Given the description of an element on the screen output the (x, y) to click on. 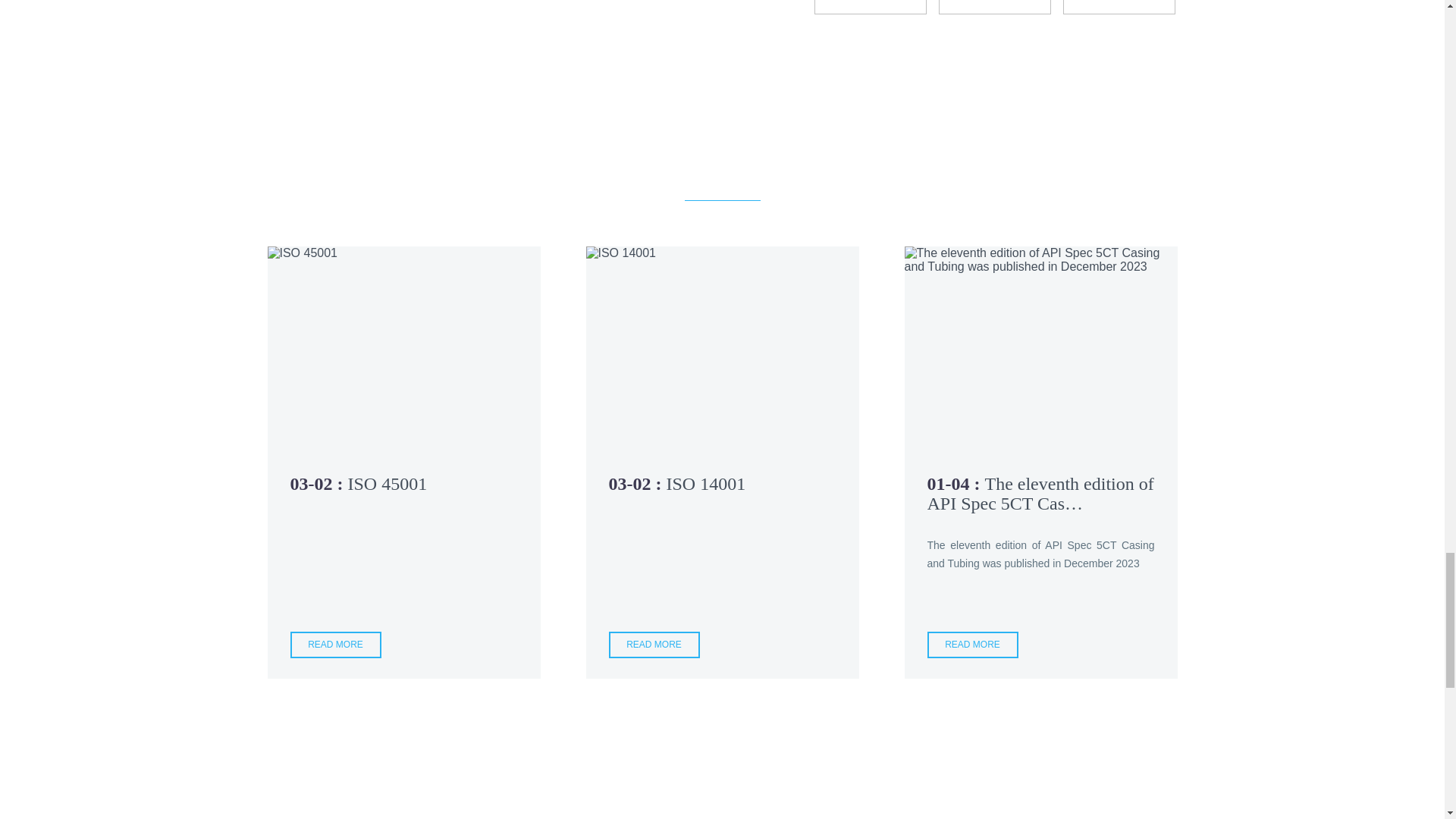
ISO 45001 (386, 483)
ISO 14001 (705, 483)
READ MORE (971, 644)
READ MORE (334, 644)
READ MORE (653, 644)
